Given the description of an element on the screen output the (x, y) to click on. 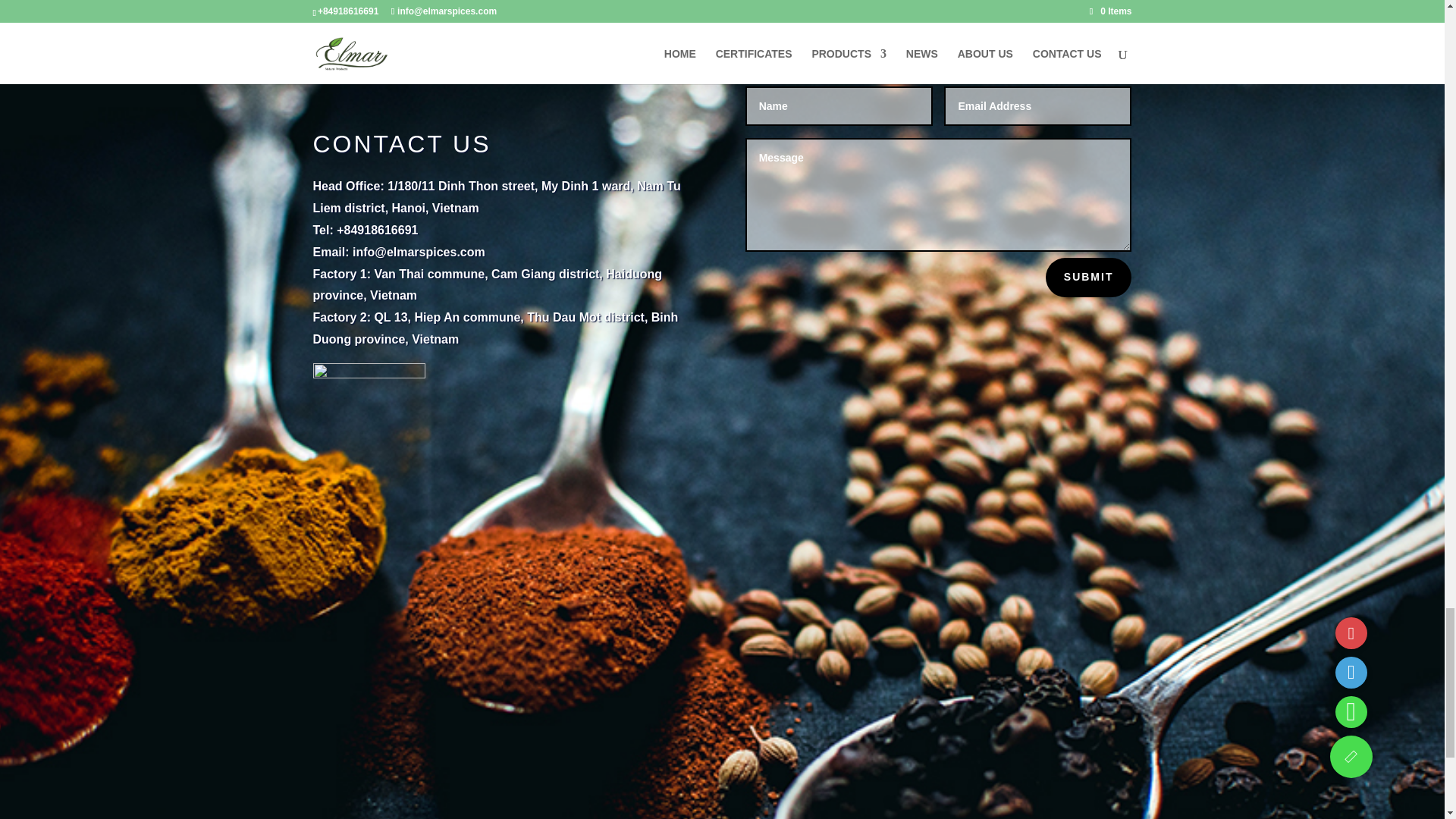
SUBMIT (1088, 277)
